Given the description of an element on the screen output the (x, y) to click on. 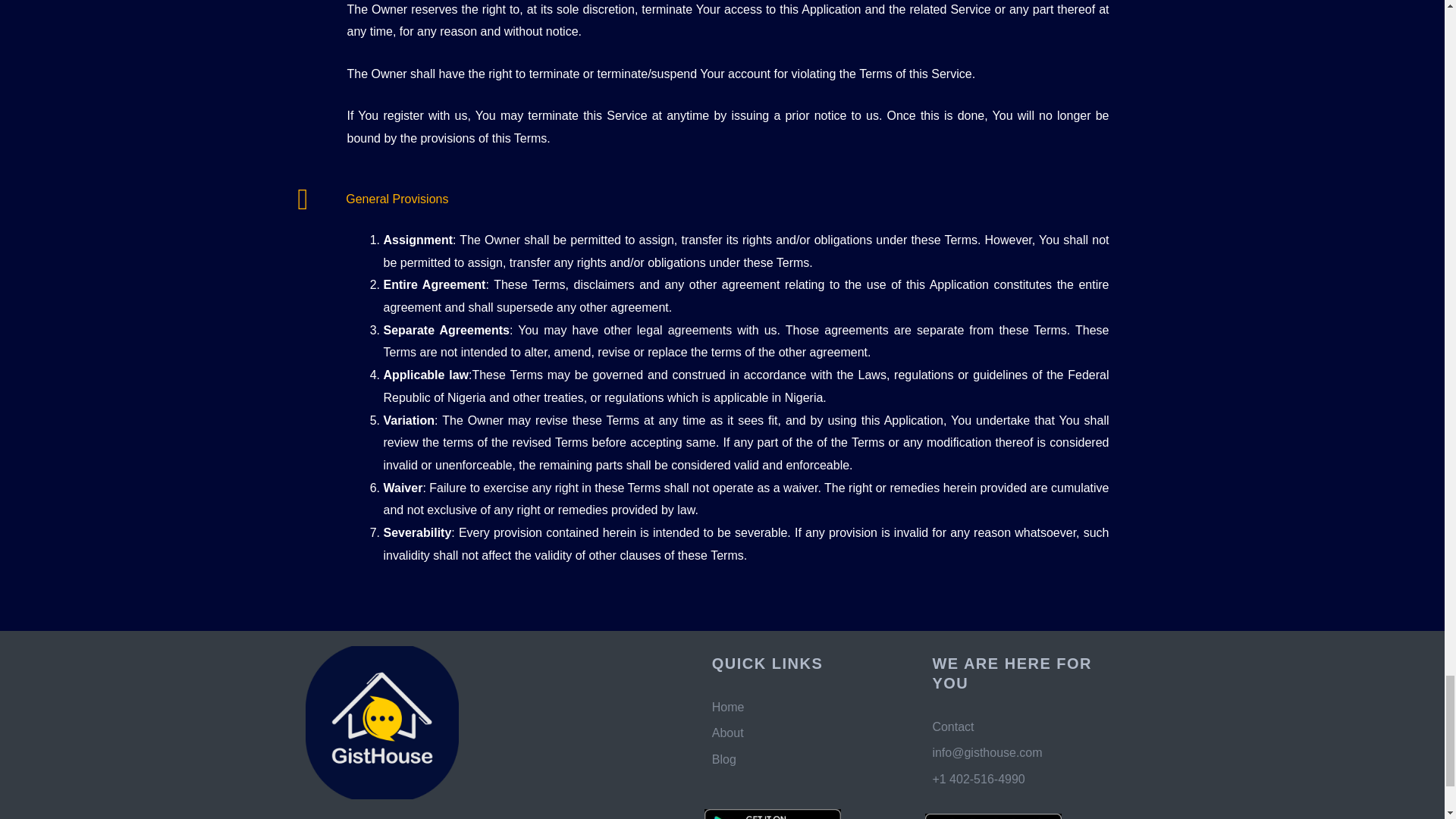
About (806, 732)
Contact (1028, 726)
Home (806, 707)
Blog (806, 759)
